Given the description of an element on the screen output the (x, y) to click on. 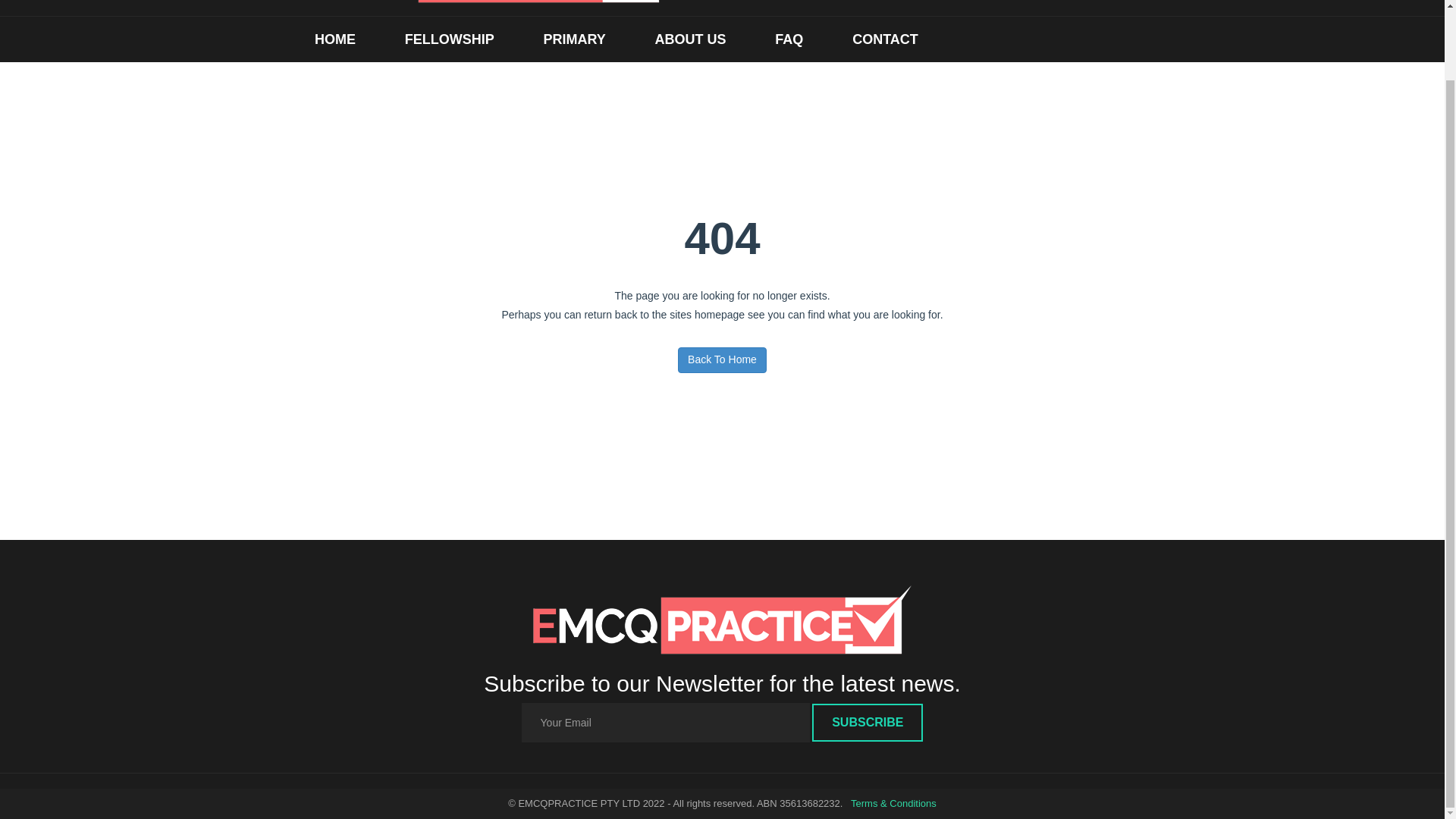
PRIMARY (574, 39)
FAQ (789, 39)
Back To Home (722, 360)
Subscribe (867, 722)
FELLOWSHIP (449, 39)
Subscribe (867, 722)
CONTACT (885, 39)
HOME (334, 39)
ABOUT US (690, 39)
